Given the description of an element on the screen output the (x, y) to click on. 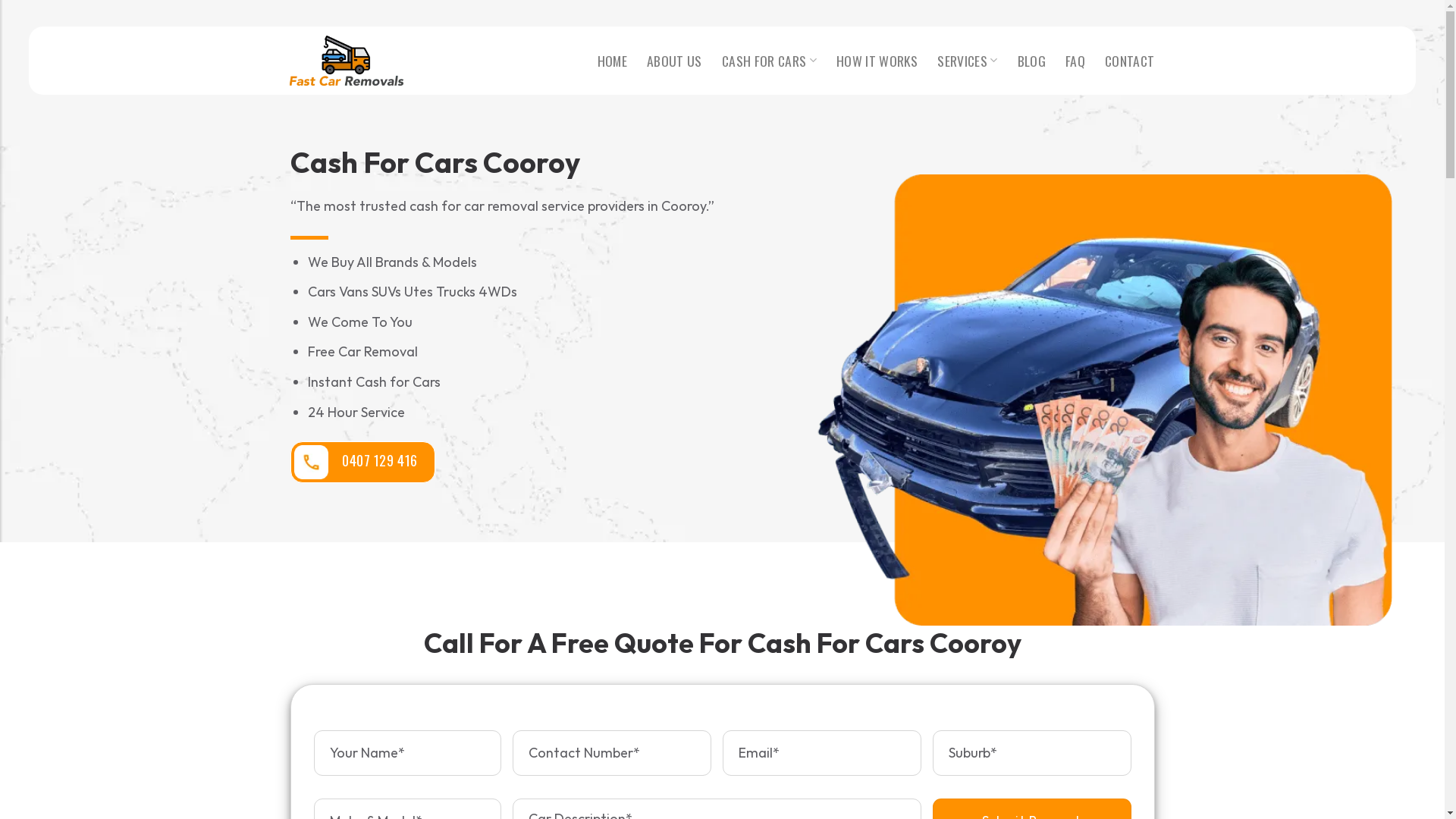
Fast Car Removals Element type: hover (346, 60)
CASH FOR CARS Element type: text (768, 60)
BLOG Element type: text (1031, 60)
HOW IT WORKS Element type: text (876, 60)
SERVICES Element type: text (967, 60)
FAQ Element type: text (1075, 60)
HOME Element type: text (612, 60)
CONTACT Element type: text (1129, 60)
Skip to content Element type: text (0, 0)
ABOUT US Element type: text (674, 60)
0407 129 416 Element type: text (361, 462)
